Given the description of an element on the screen output the (x, y) to click on. 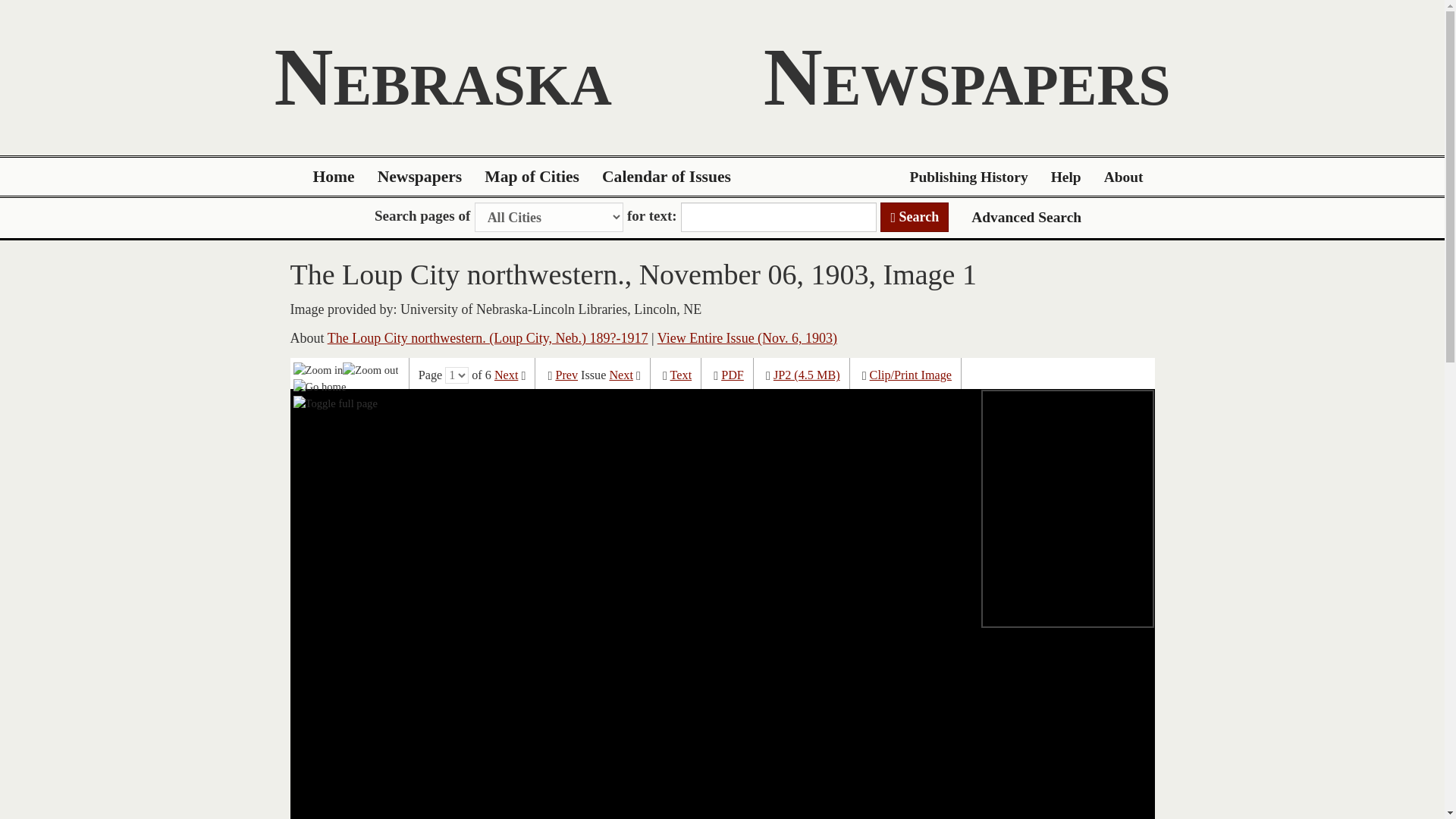
Search (914, 217)
Newspapers (420, 176)
Publishing History (968, 176)
Go home (320, 386)
Calendar of Issues (666, 176)
Zoom out (369, 369)
Next (619, 375)
About (1123, 176)
Advanced Search (1026, 216)
Next (506, 375)
Zoom in (318, 369)
Map of Cities (532, 176)
PDF (732, 375)
Text (681, 375)
Help (1066, 176)
